Given the description of an element on the screen output the (x, y) to click on. 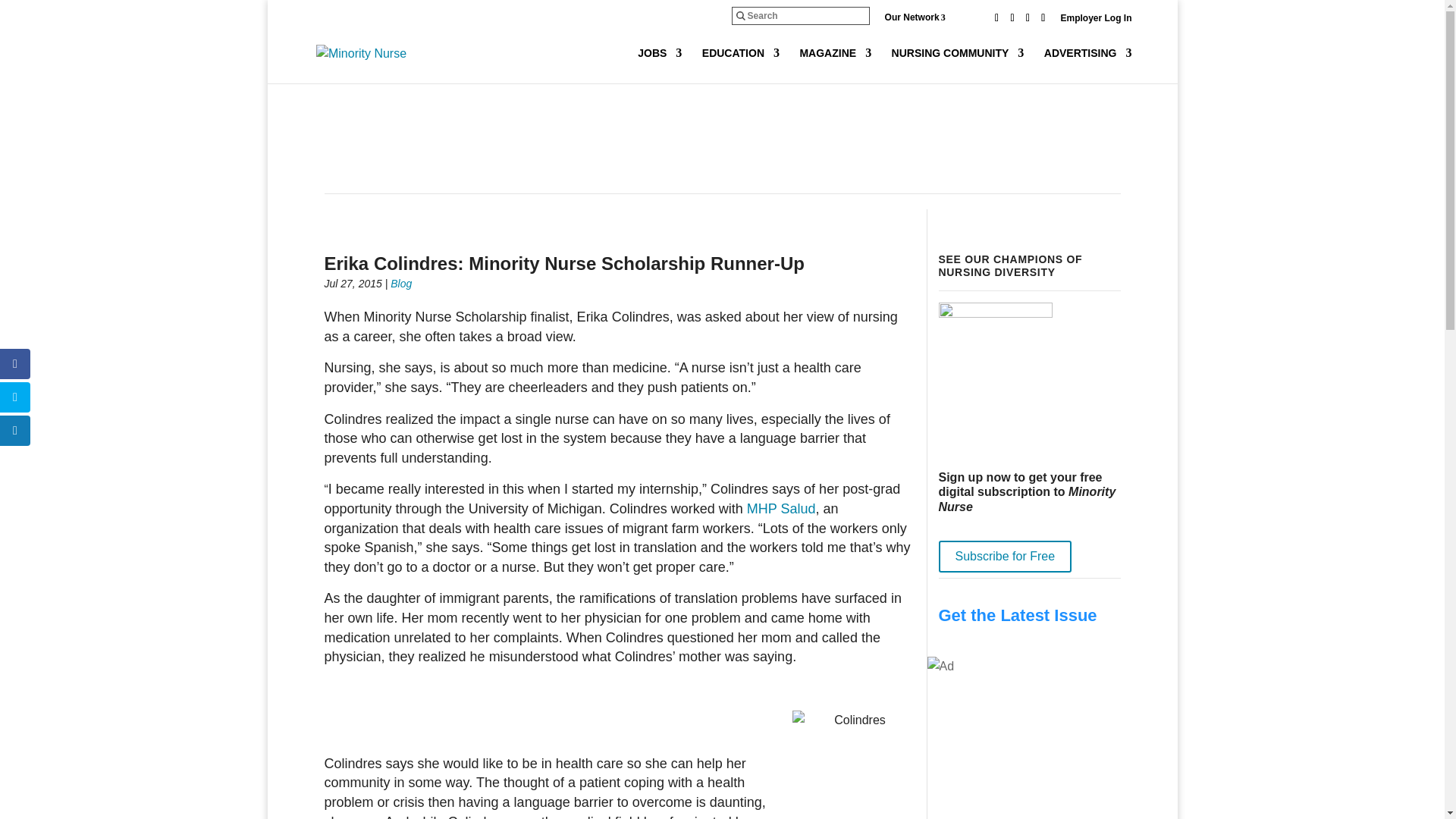
3rd party ad content (721, 141)
EDUCATION (739, 65)
MAGAZINE (834, 65)
Subscribe for Free (1005, 556)
NURSING COMMUNITY (958, 65)
JOBS (659, 65)
Employer Log In (1095, 21)
Our Network (926, 17)
